Given the description of an element on the screen output the (x, y) to click on. 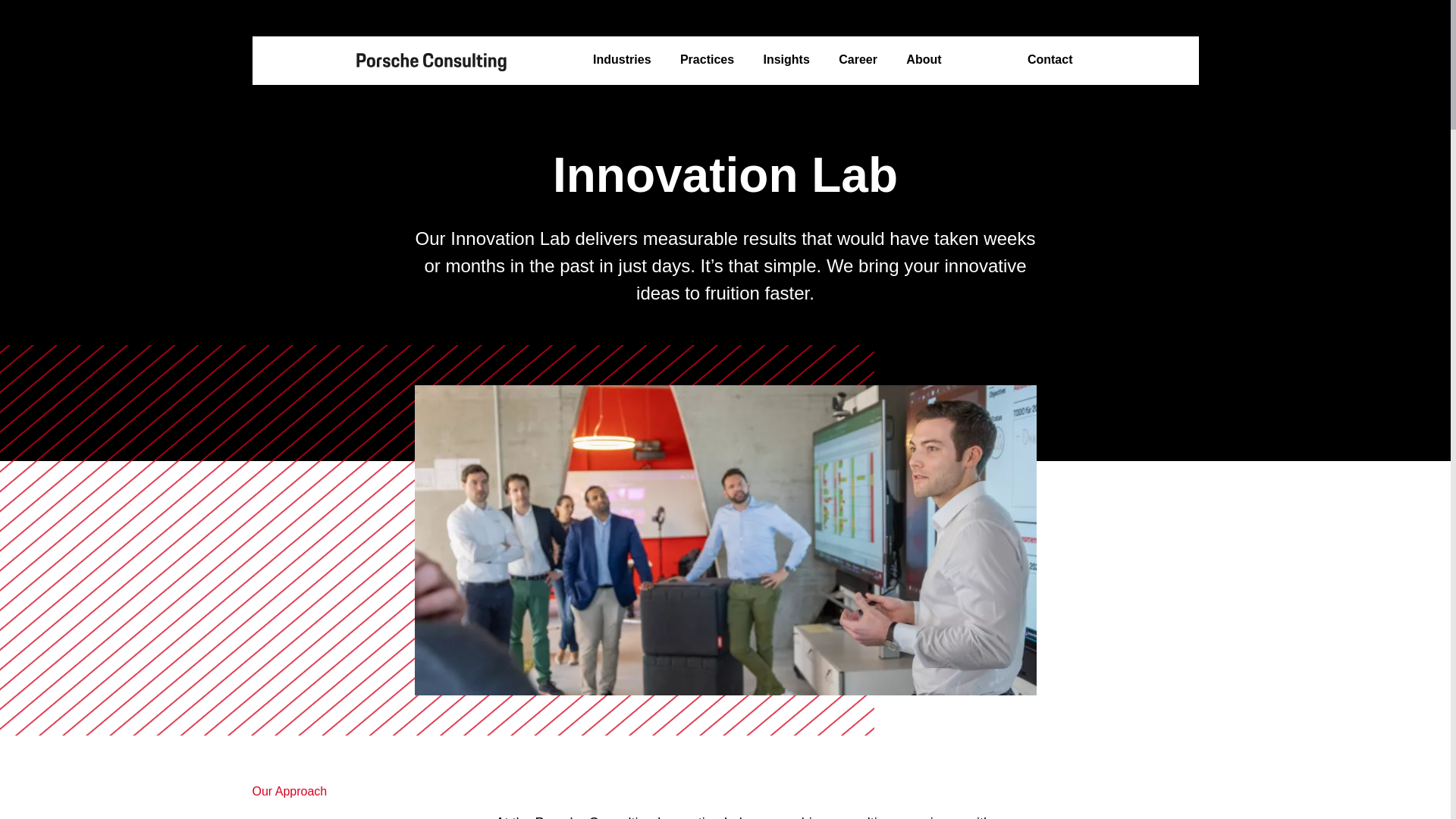
Industries (621, 60)
Career (857, 60)
Practices (706, 60)
About (922, 60)
Insights (785, 60)
Contact (1050, 60)
